Given the description of an element on the screen output the (x, y) to click on. 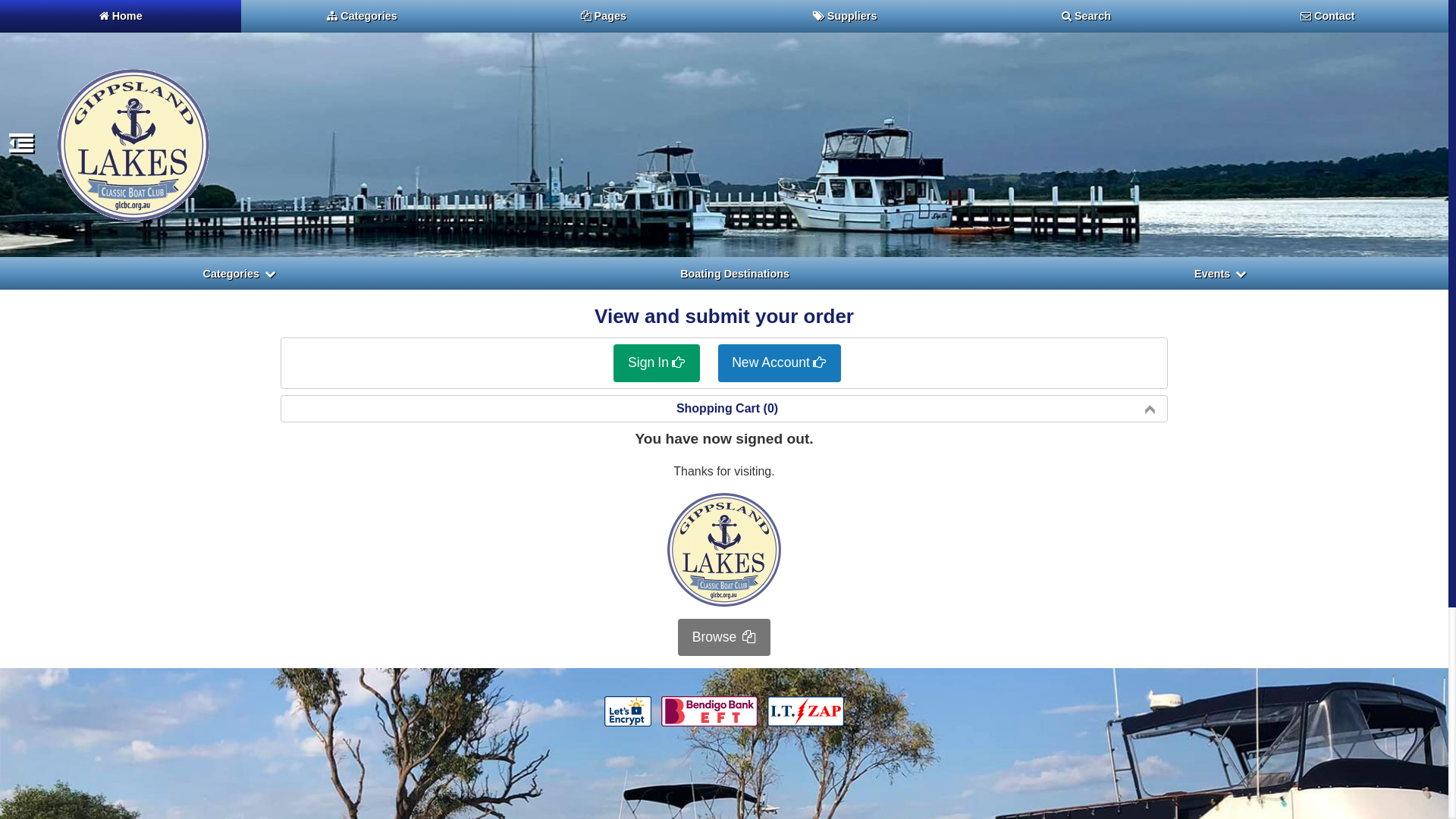
Categories Element type: text (238, 273)
Home Element type: text (120, 16)
Toggle Menu Sidebar Element type: hover (21, 147)
Categories Element type: text (361, 16)
Gippsland Lakes Classic Boat Club home page Element type: hover (133, 144)
 Shopping Cart (0) Element type: text (723, 408)
Boating Destinations Element type: text (734, 273)
Payments by EFT into our Bendigo Bank account Element type: hover (709, 711)
Suppliers Element type: text (844, 16)
Search Element type: text (1085, 16)
Events Element type: text (1220, 273)
Pages Element type: text (603, 16)
Design by I.T.ZAP Website Design Works Element type: hover (805, 711)
Website secured by Let's Encrypt 256-bit data encryption Element type: hover (627, 711)
Contact Element type: text (1327, 16)
